Given the description of an element on the screen output the (x, y) to click on. 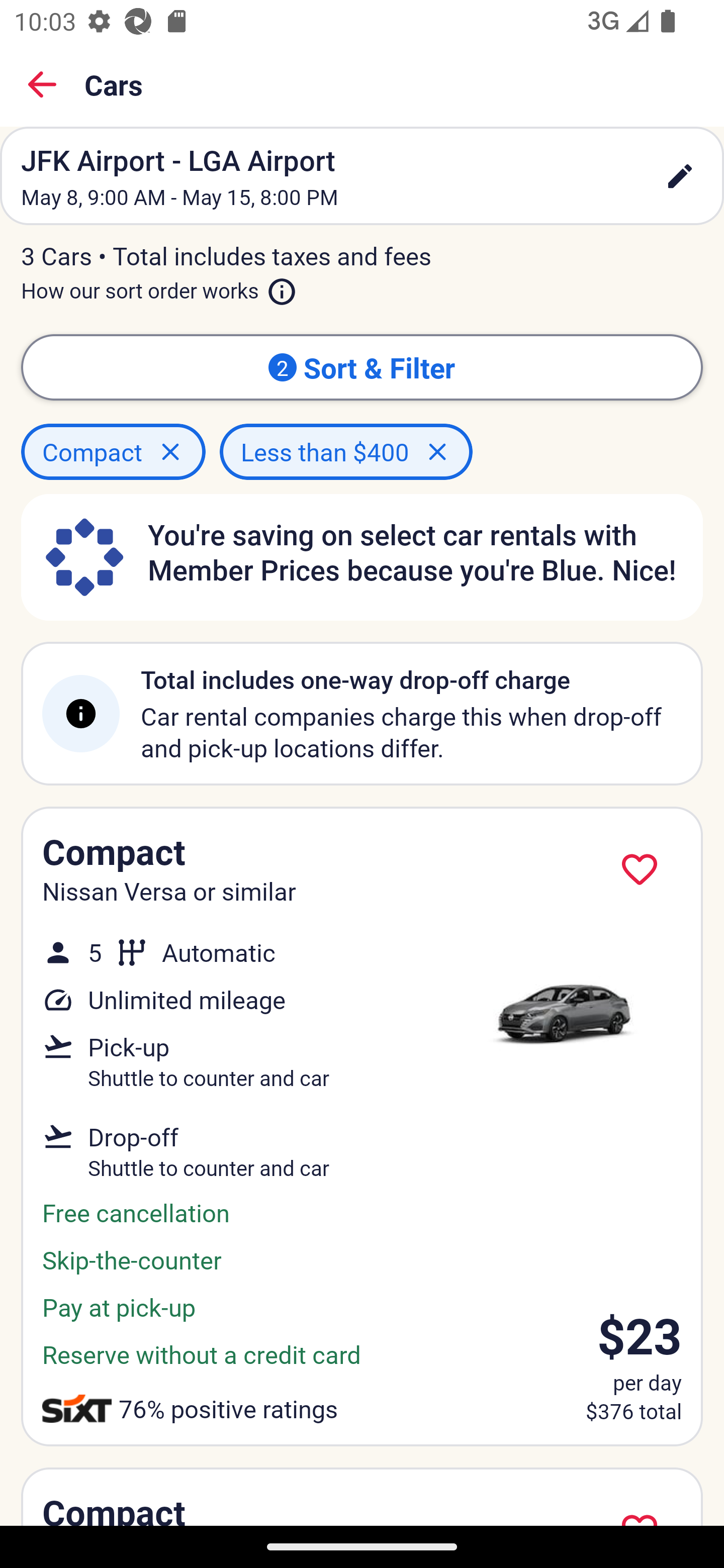
Back (42, 84)
edit (679, 175)
How our sort order works (158, 286)
2 Sort & Filter (361, 366)
